Given the description of an element on the screen output the (x, y) to click on. 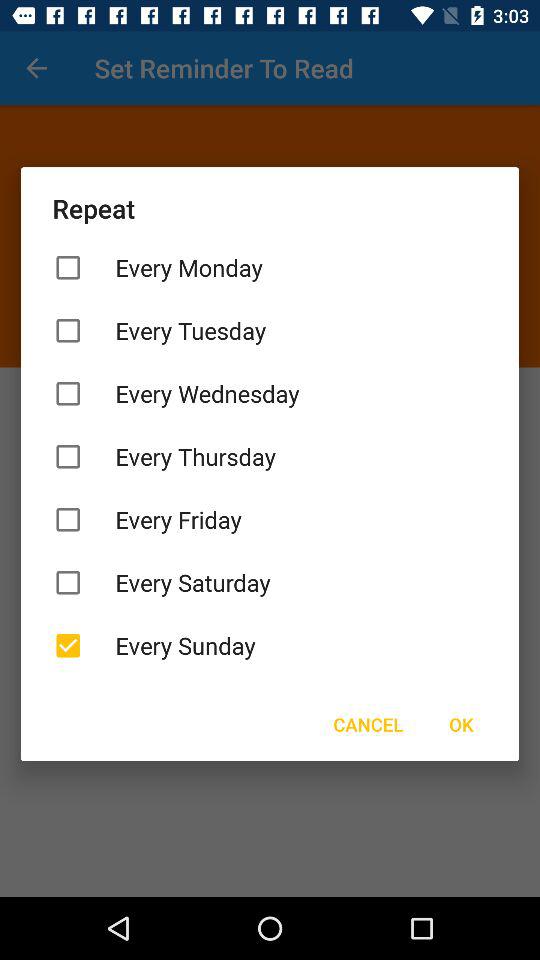
open the every wednesday item (270, 393)
